Given the description of an element on the screen output the (x, y) to click on. 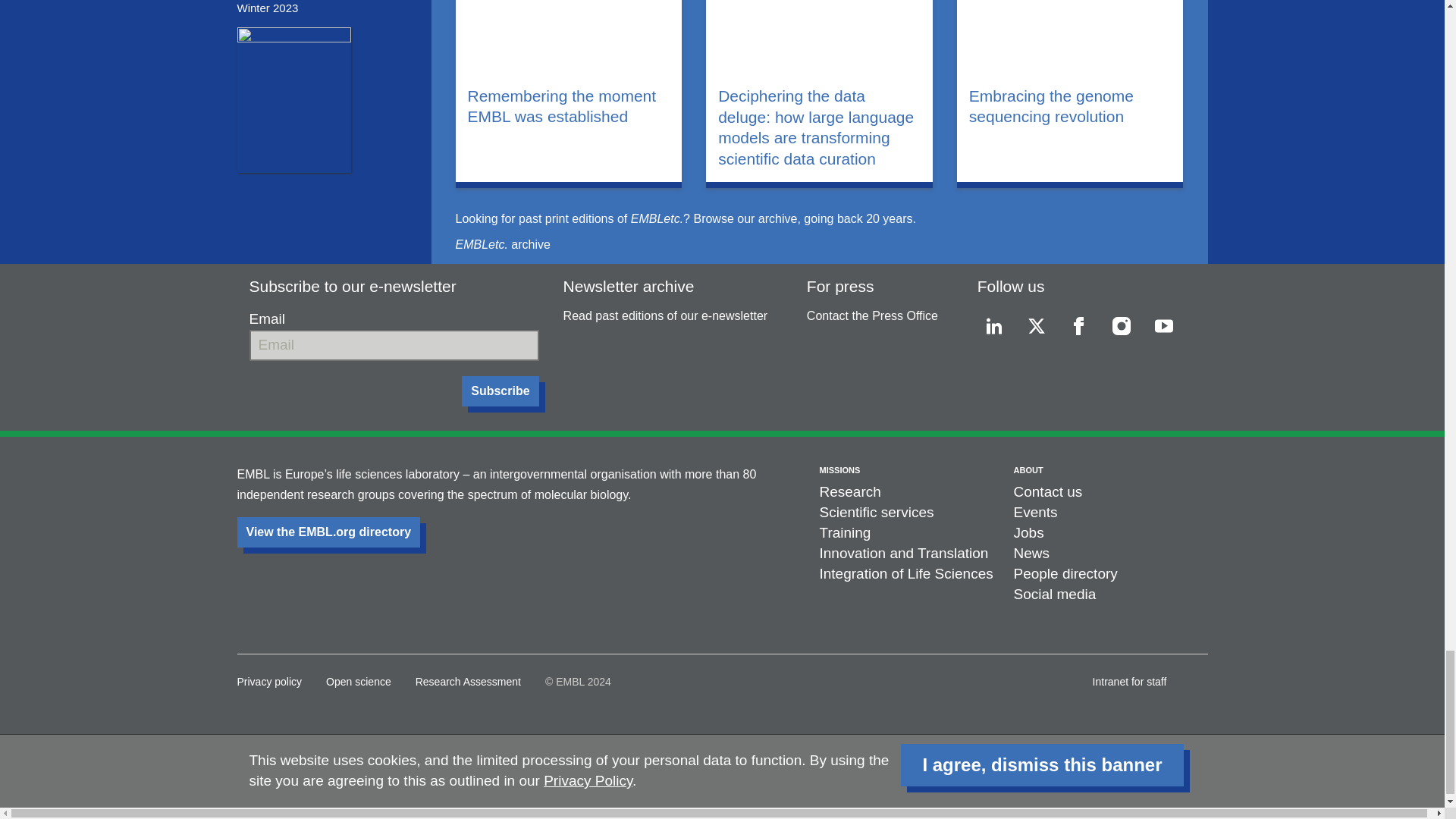
facebook (1079, 326)
Embracing the genome sequencing revolution (1070, 106)
EMBLetc. archive (502, 244)
linkedin (993, 326)
Remembering the moment EMBL was established (568, 106)
Read past editions of our e-newsletter (665, 315)
Contact the Press Office (871, 315)
twitter (1036, 326)
Subscribe (499, 390)
